Given the description of an element on the screen output the (x, y) to click on. 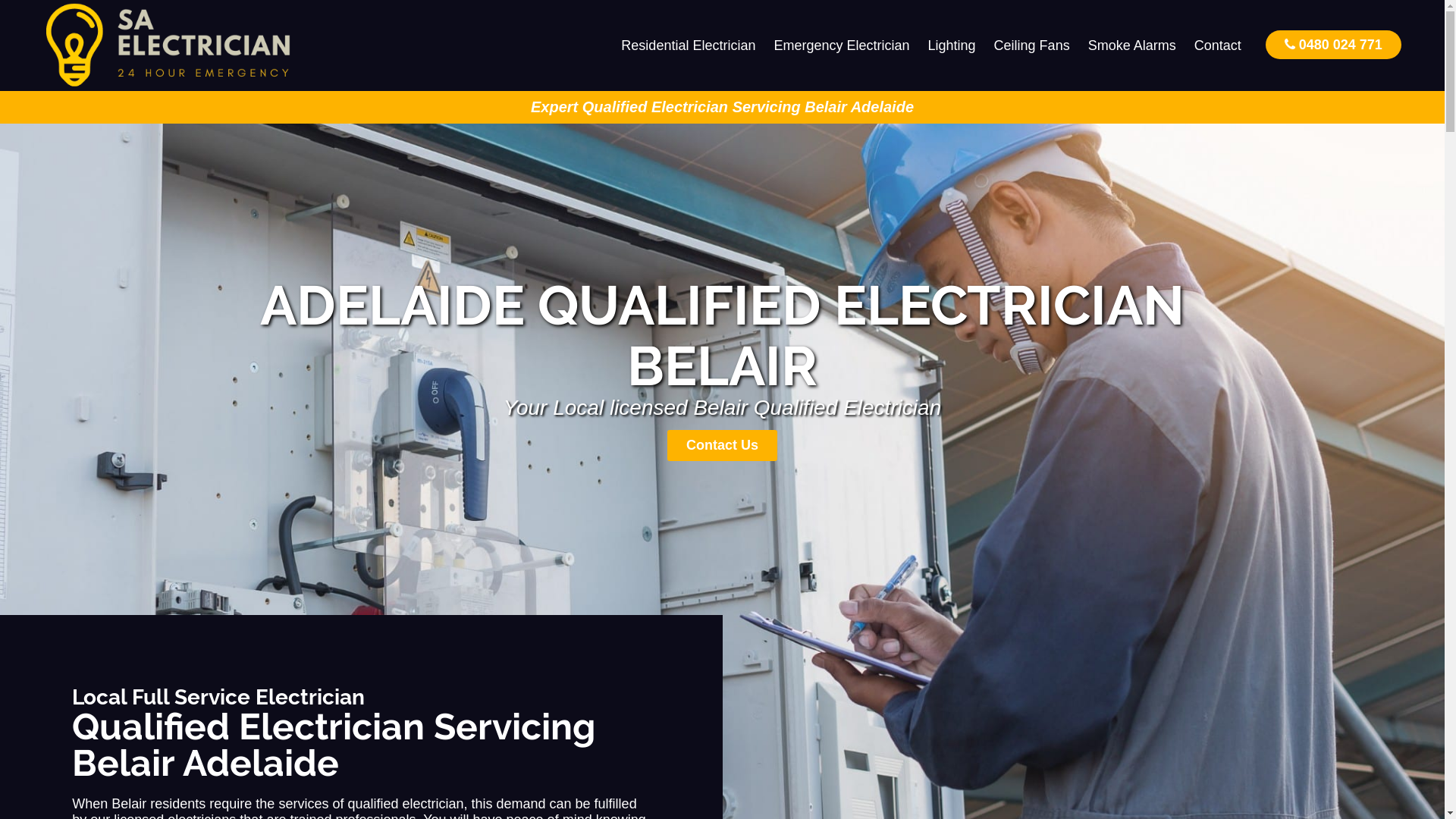
0480 024 771 Element type: text (1333, 44)
Ceiling Fans Element type: text (1032, 45)
Contact Us Element type: text (722, 445)
Emergency Electrician Element type: text (841, 45)
Residential Electrician Element type: text (687, 45)
Lighting Element type: text (952, 45)
Contact Element type: text (1217, 45)
Smoke Alarms Element type: text (1132, 45)
